Given the description of an element on the screen output the (x, y) to click on. 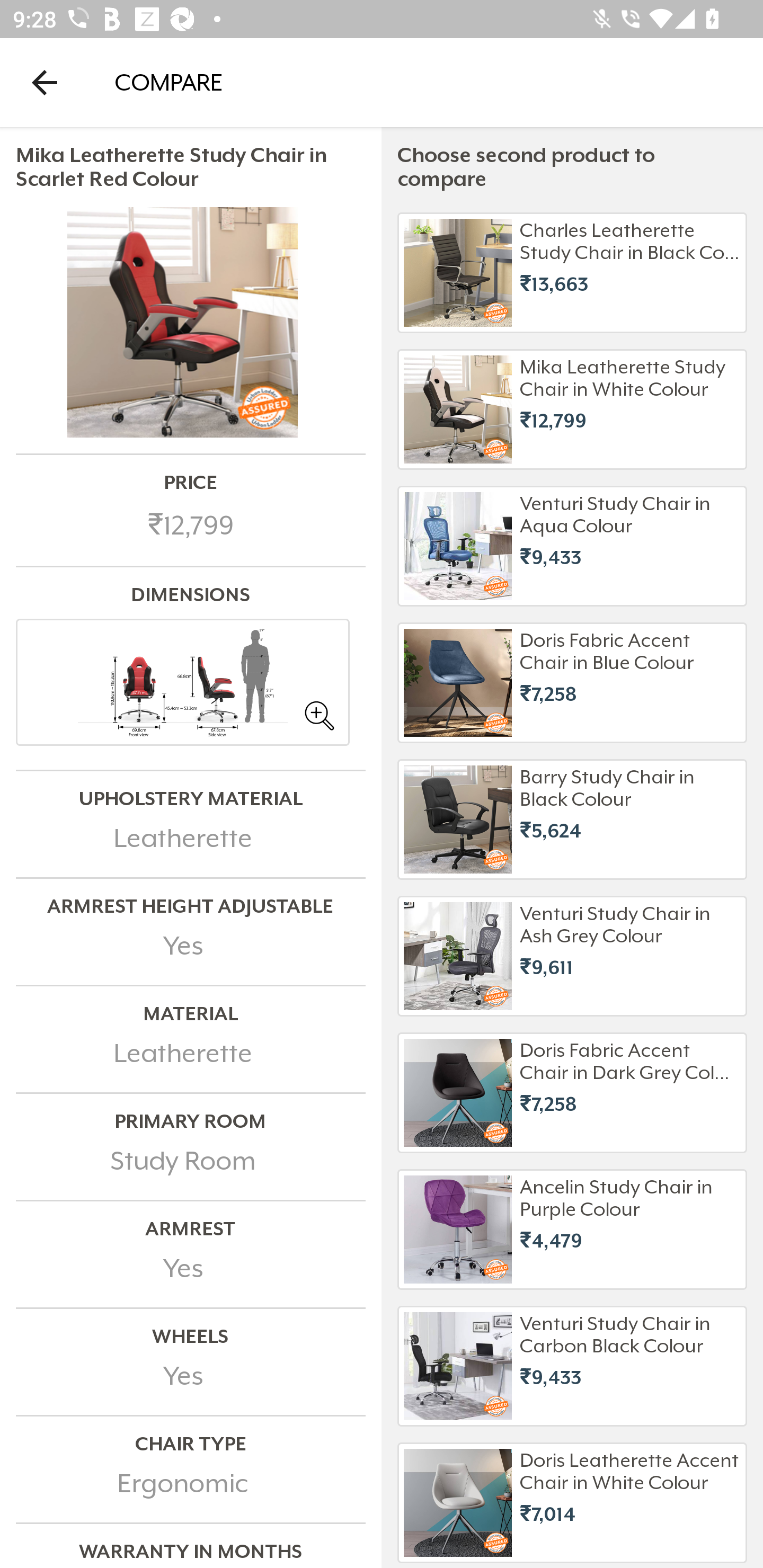
Navigate up (44, 82)
Venturi Study Chair in Aqua Colour ₹9,433 (571, 546)
Doris Fabric Accent Chair in Blue Colour ₹7,258 (571, 682)
Barry Study Chair in Black Colour ₹5,624 (571, 818)
Venturi Study Chair in Ash Grey Colour ₹9,611 (571, 955)
Ancelin Study Chair in Purple Colour ₹4,479 (571, 1229)
Venturi Study Chair in Carbon Black Colour ₹9,433 (571, 1366)
